Given the description of an element on the screen output the (x, y) to click on. 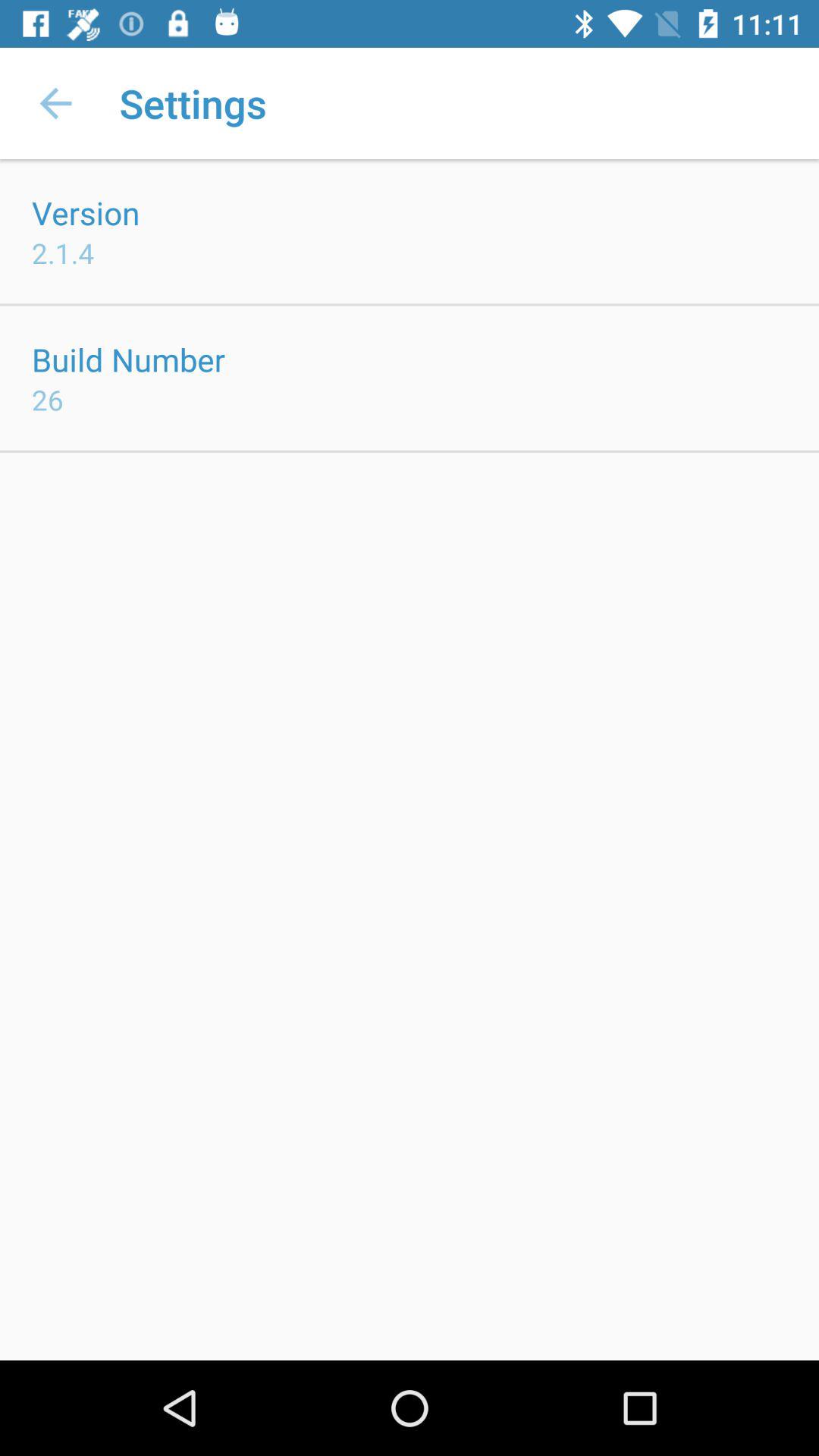
tap the 26 item (47, 399)
